Given the description of an element on the screen output the (x, y) to click on. 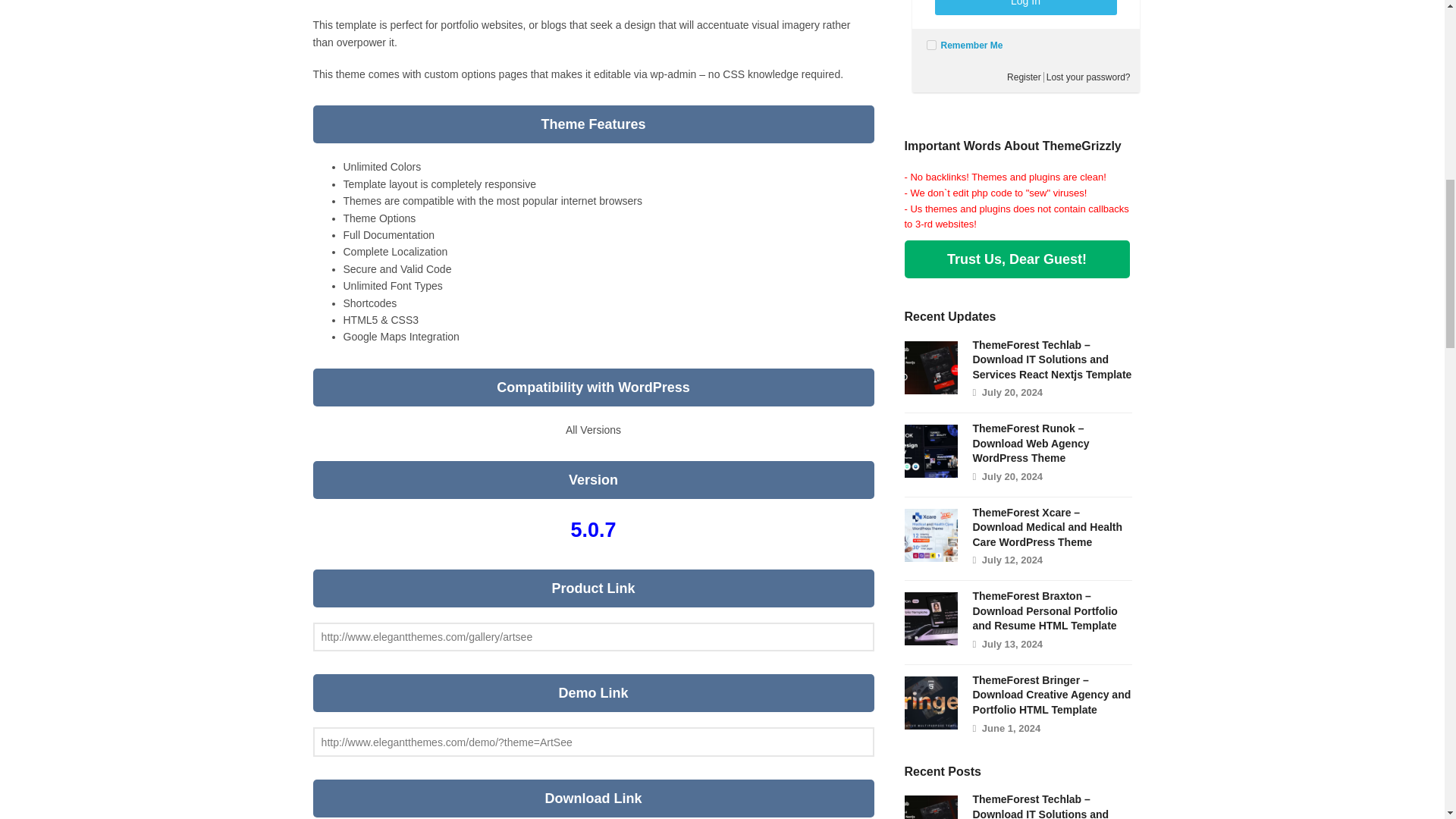
Log In (1025, 7)
forever (931, 44)
